Given the description of an element on the screen output the (x, y) to click on. 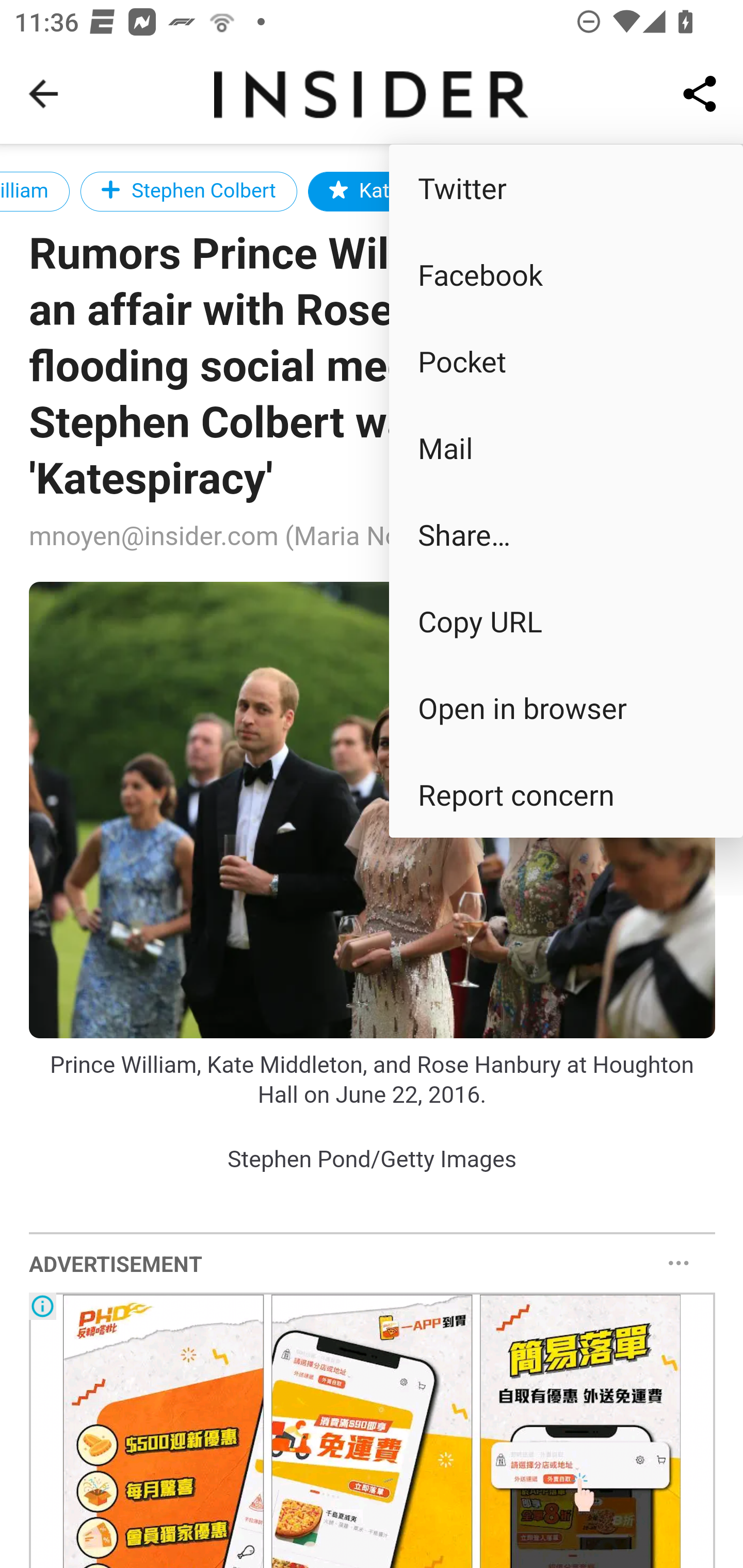
Twitter (566, 187)
Facebook (566, 274)
Pocket (566, 361)
Mail (566, 447)
Share… (566, 533)
Copy URL (566, 620)
Open in browser (566, 707)
Report concern (566, 794)
